Given the description of an element on the screen output the (x, y) to click on. 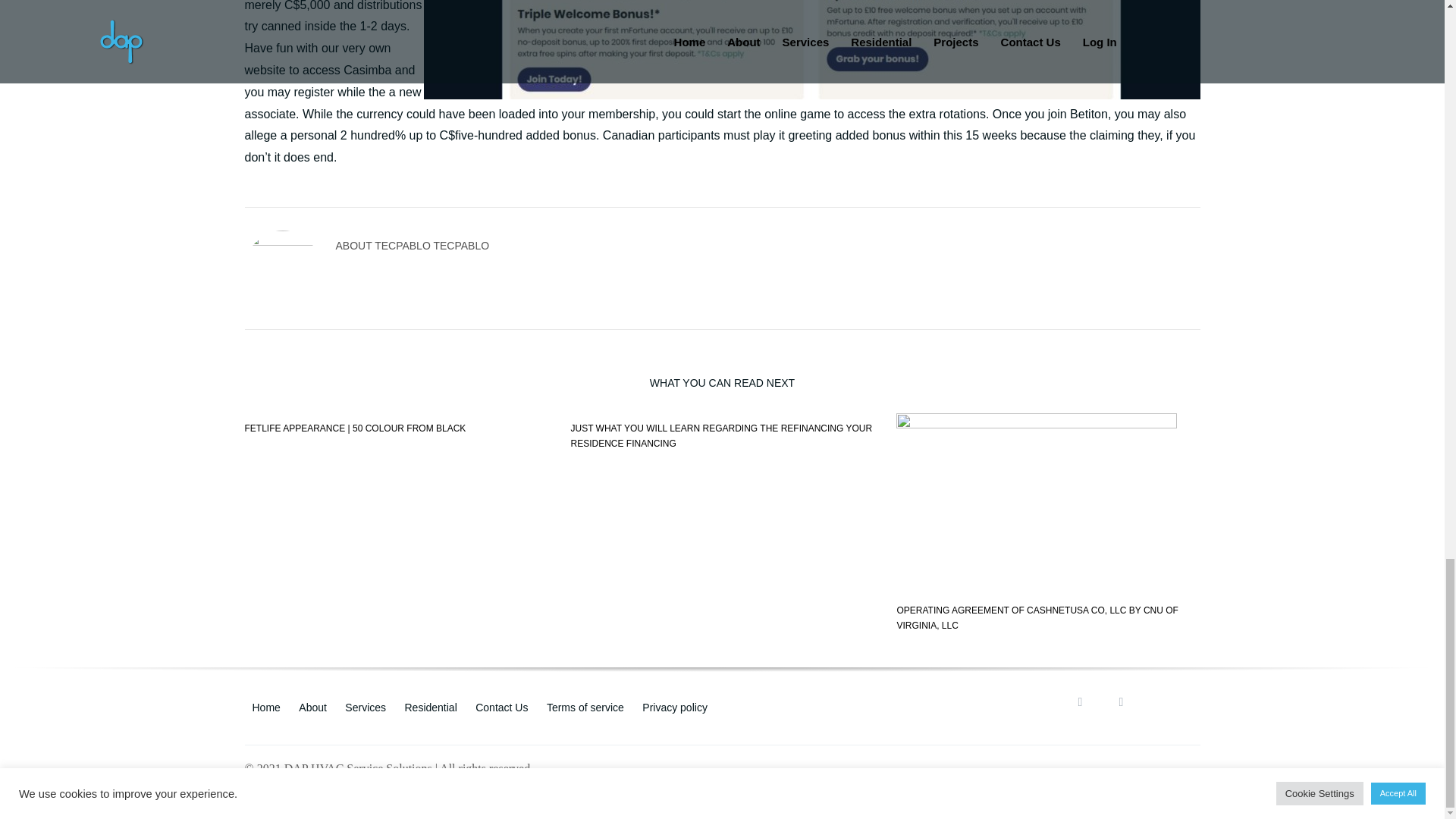
About (312, 707)
Home (265, 707)
Residential (430, 707)
Contact Us (501, 707)
Services (365, 707)
Terms of service (585, 707)
